Given the description of an element on the screen output the (x, y) to click on. 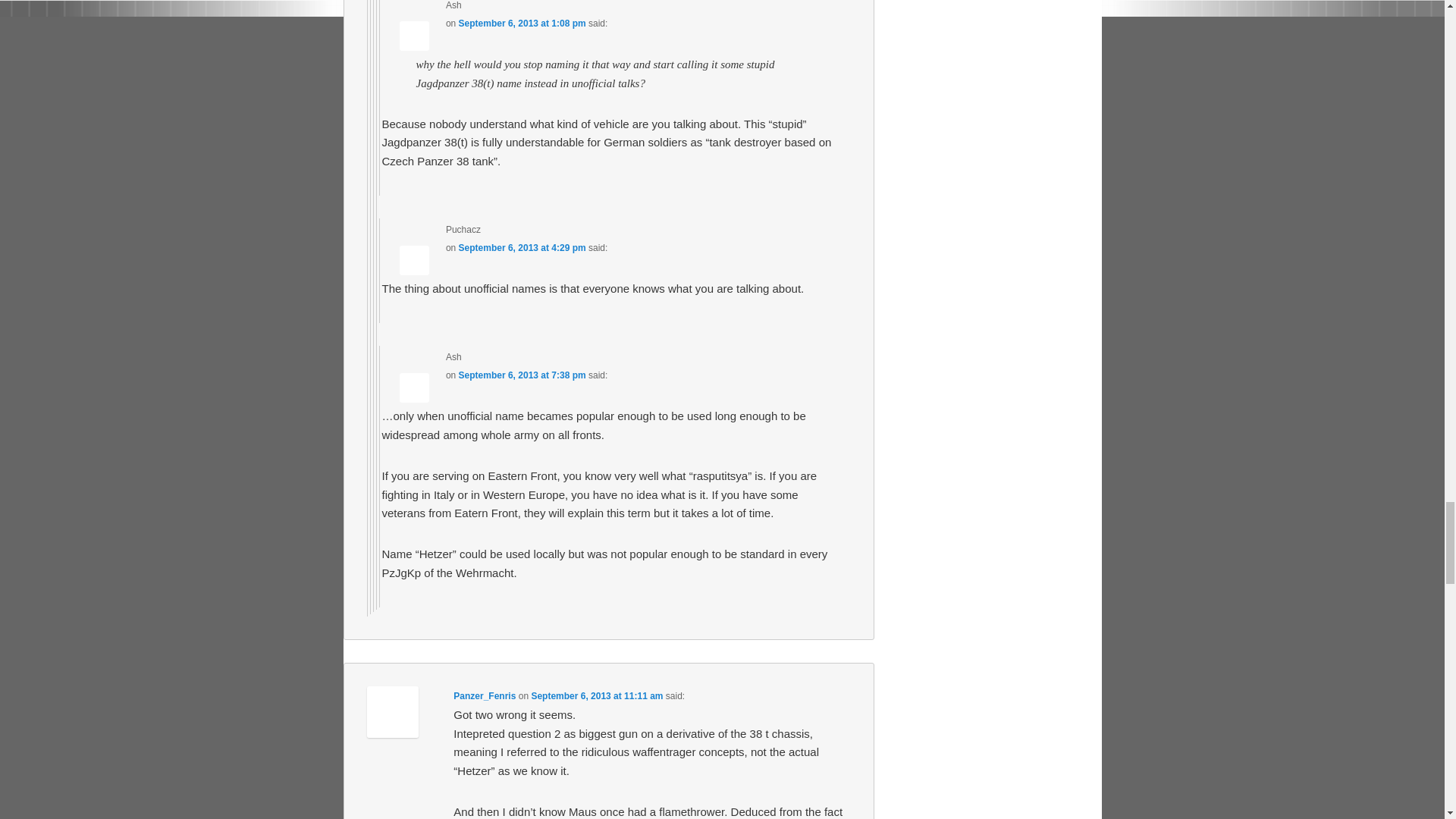
September 6, 2013 at 7:38 pm (522, 375)
September 6, 2013 at 4:29 pm (522, 247)
September 6, 2013 at 11:11 am (596, 696)
September 6, 2013 at 1:08 pm (522, 23)
